Given the description of an element on the screen output the (x, y) to click on. 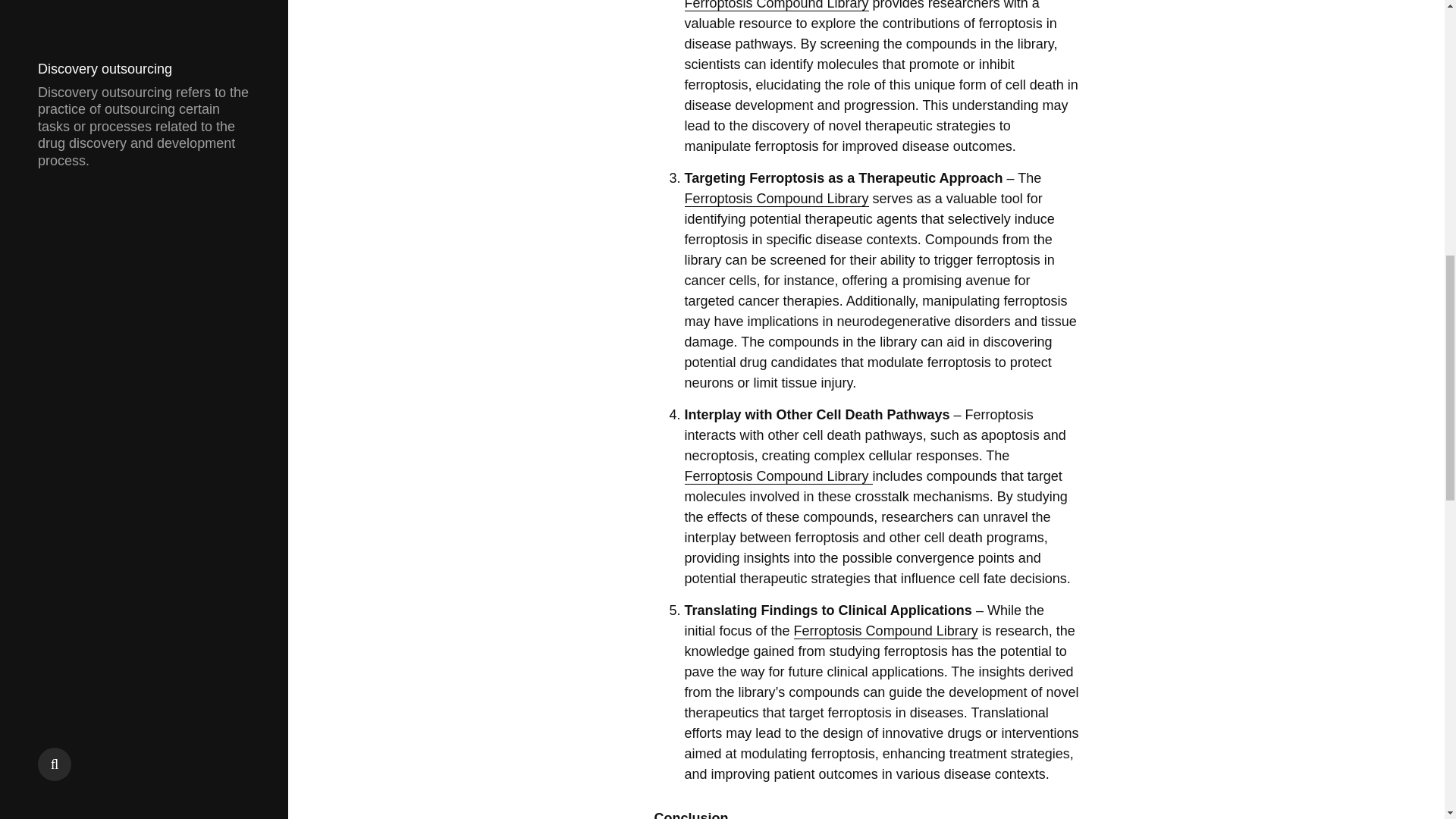
Ferroptosis Compound Library (885, 631)
Ferroptosis Compound Library (778, 476)
Ferroptosis Compound Library (775, 198)
Ferroptosis Compound Library (775, 5)
